Given the description of an element on the screen output the (x, y) to click on. 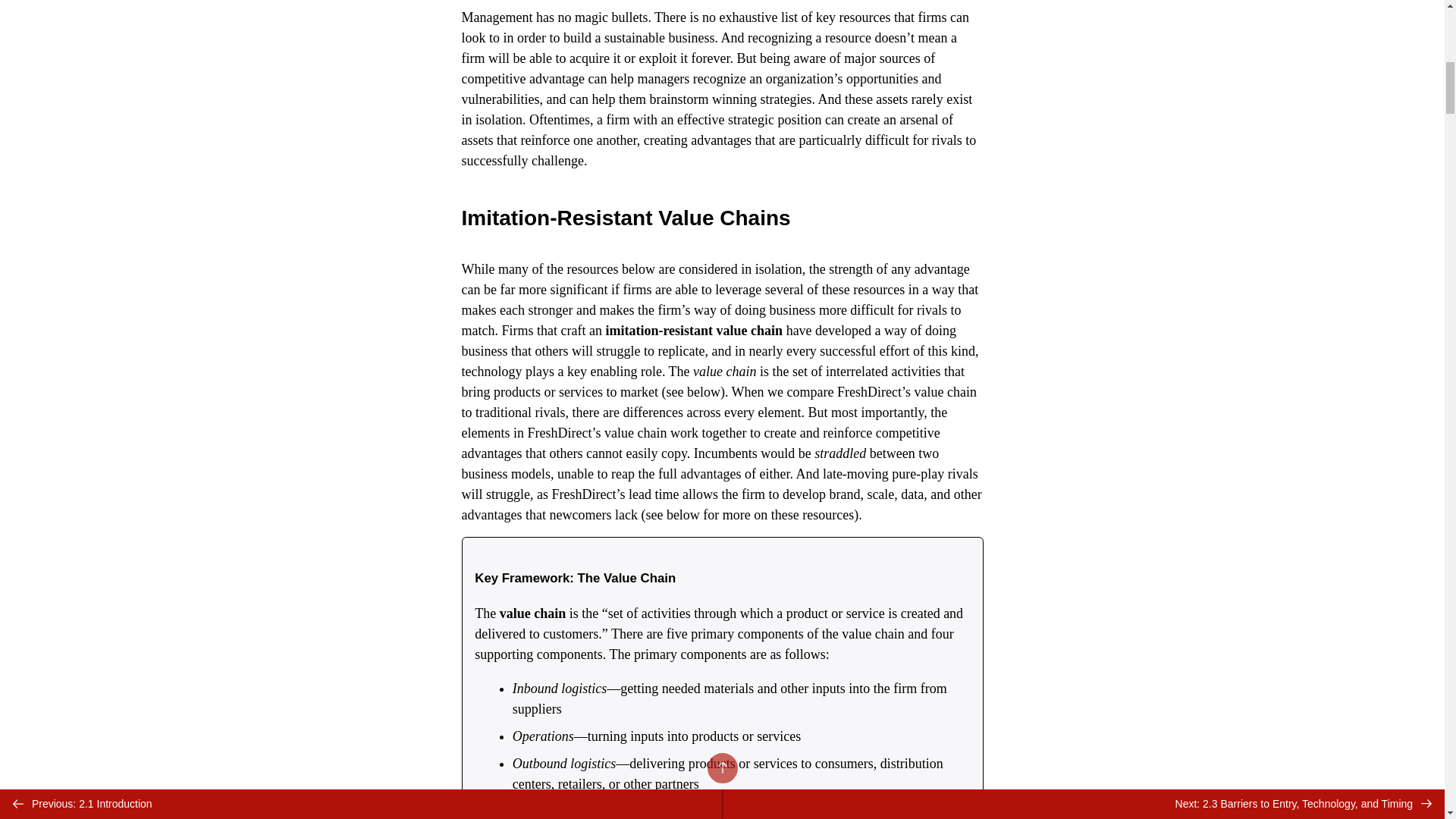
imitation-resistant value chain (694, 330)
value chain (532, 613)
